Given the description of an element on the screen output the (x, y) to click on. 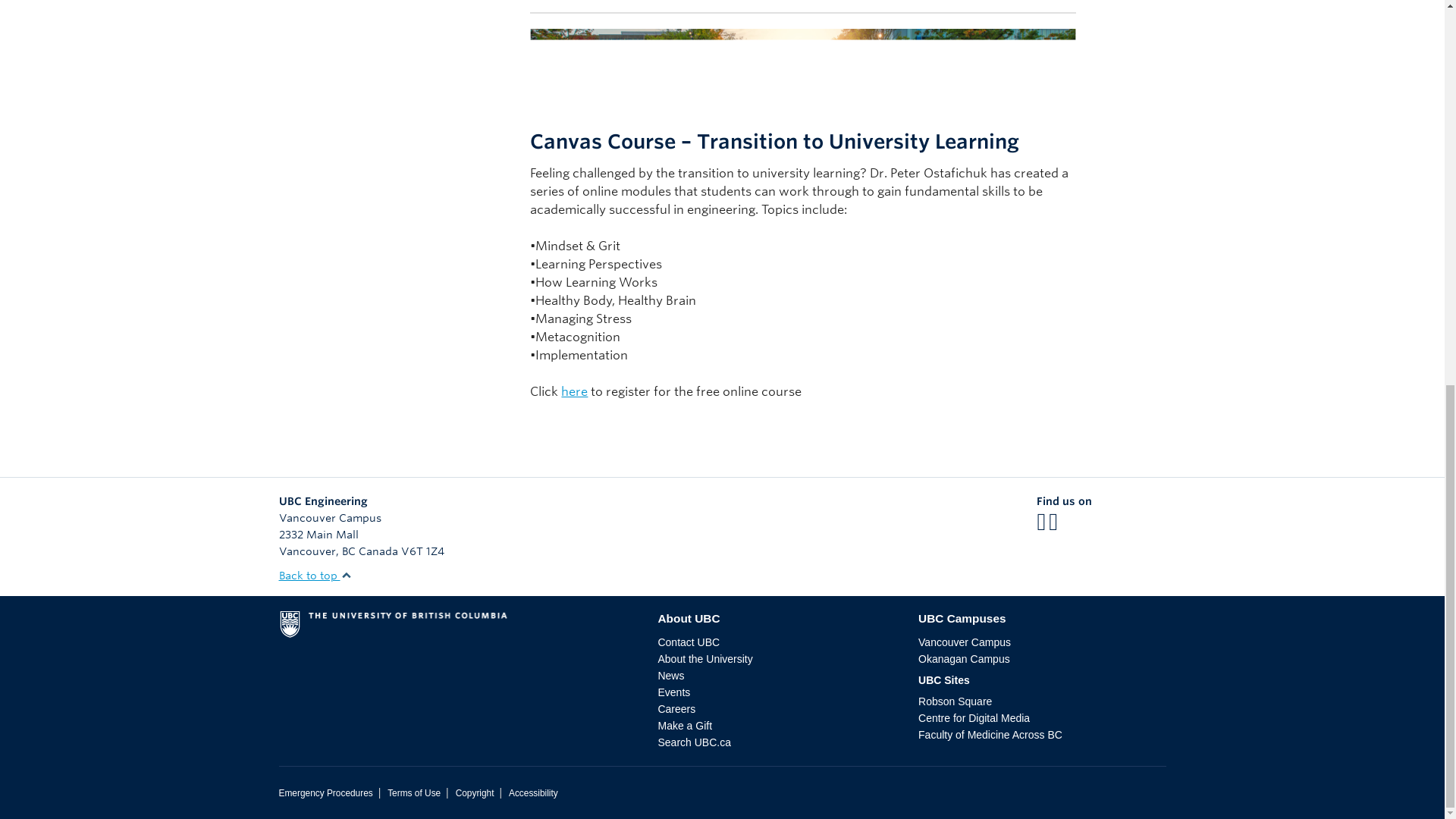
Back to top (315, 575)
Accessibility (532, 792)
UBC Copyright (475, 792)
Terms of Use (414, 792)
Emergency Procedures (325, 792)
